Given the description of an element on the screen output the (x, y) to click on. 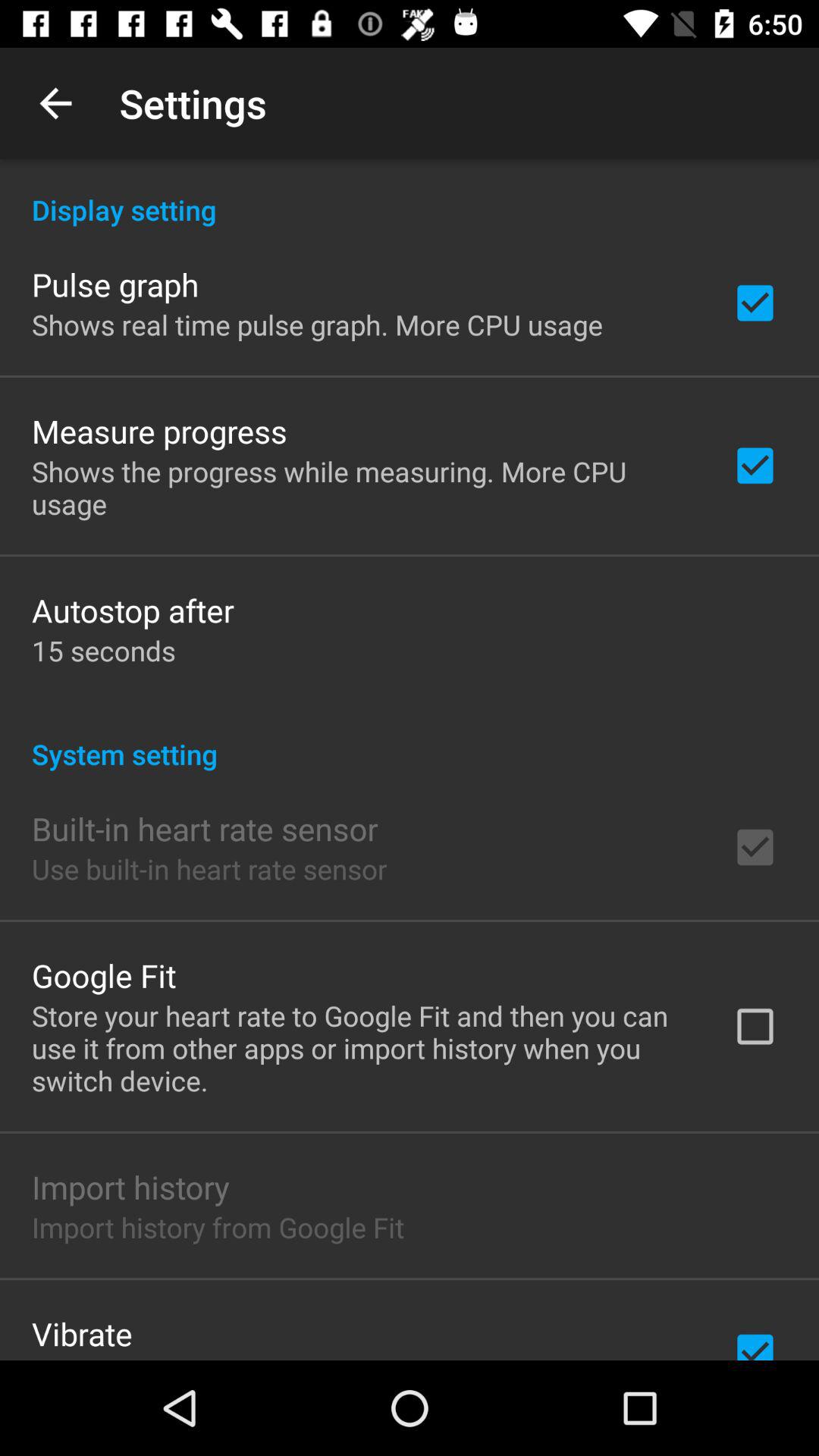
choose the measure progress icon (159, 430)
